Given the description of an element on the screen output the (x, y) to click on. 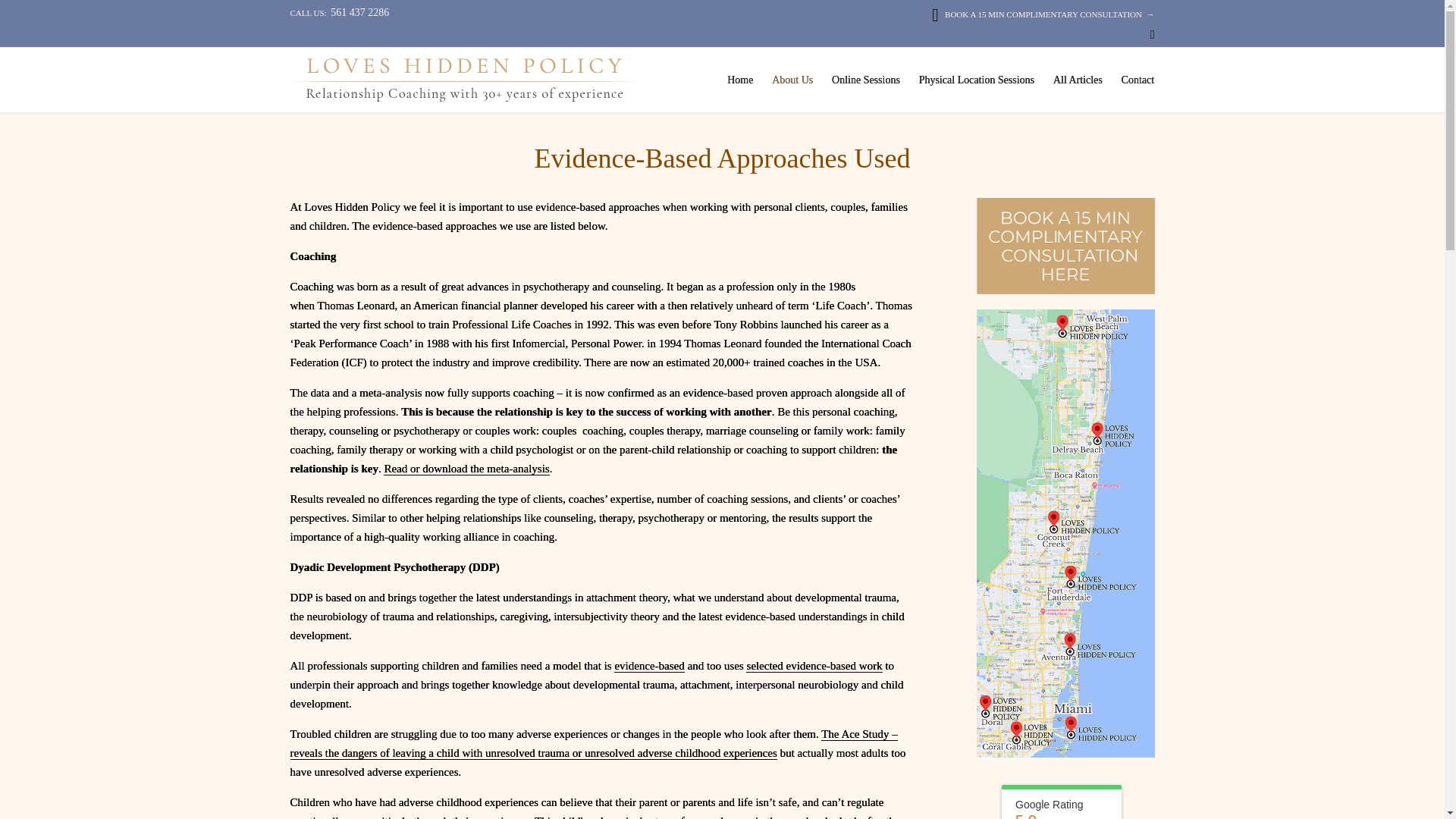
evidence-based (649, 666)
Contact (1137, 80)
All Articles (1077, 80)
selected evidence-based work (813, 666)
Online Sessions (866, 80)
Read or download the meta-analysis (466, 468)
561 437 2286 (359, 12)
Loves Hidden Policy (463, 79)
Home (740, 80)
